Given the description of an element on the screen output the (x, y) to click on. 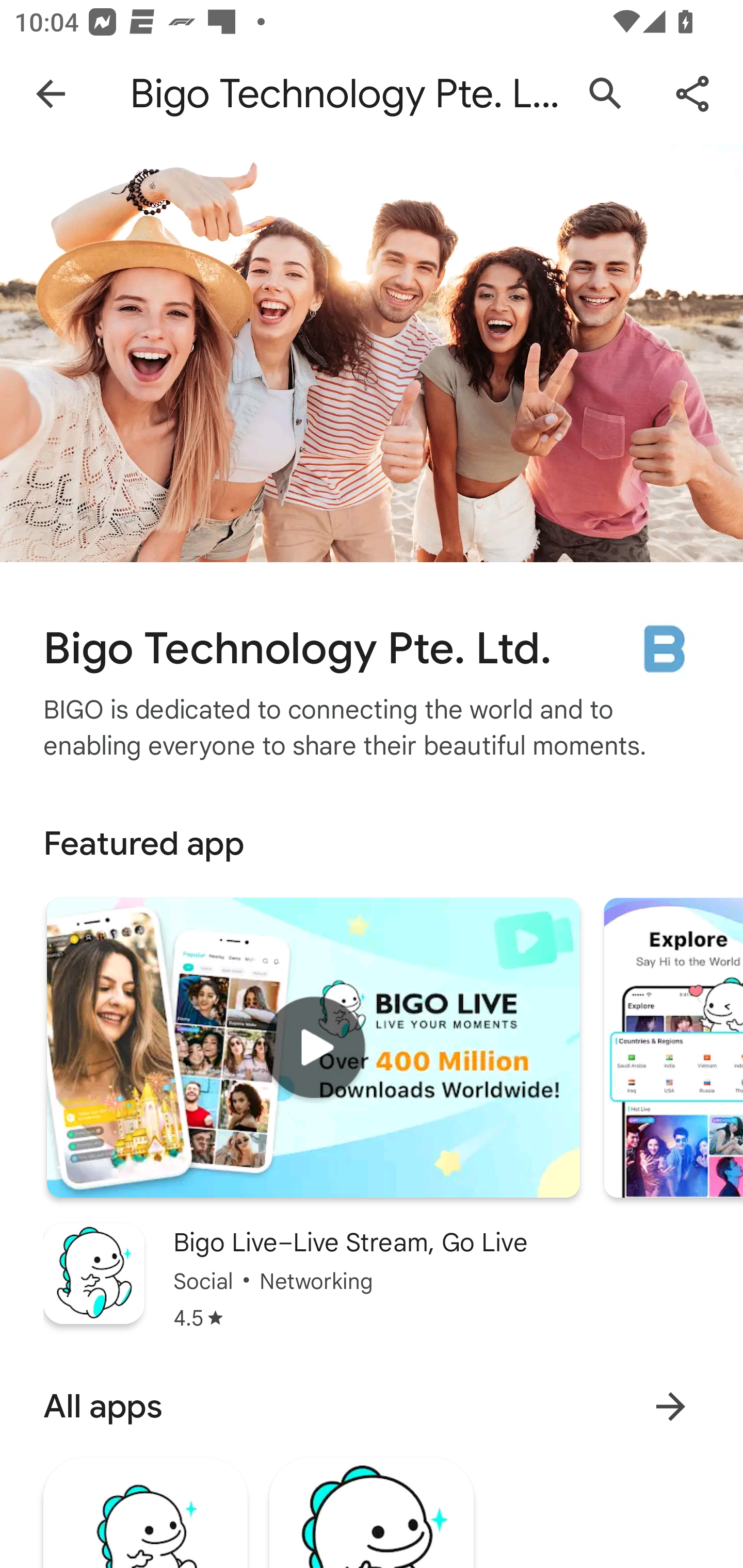
Navigate up (50, 93)
Search Google Play (605, 93)
Share (692, 93)
Play trailer for "Bigo Live–Live Stream, Go Live" (313, 1047)
All apps More results for All apps (371, 1406)
More results for All apps (670, 1406)
